Given the description of an element on the screen output the (x, y) to click on. 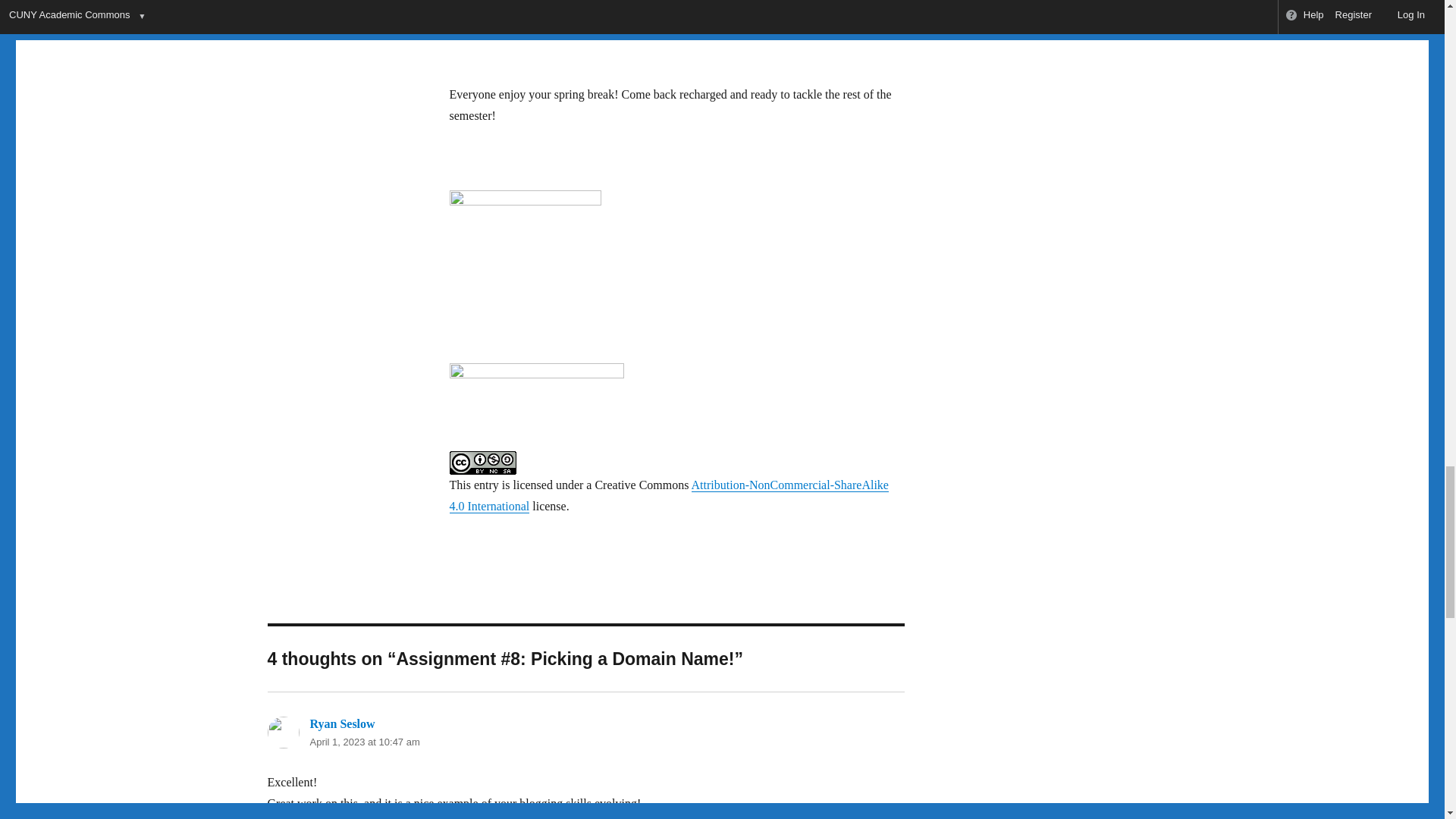
April 1, 2023 at 10:47 am (363, 741)
Ryan Seslow (341, 723)
Attribution-NonCommercial-ShareAlike 4.0 International (668, 495)
